Given the description of an element on the screen output the (x, y) to click on. 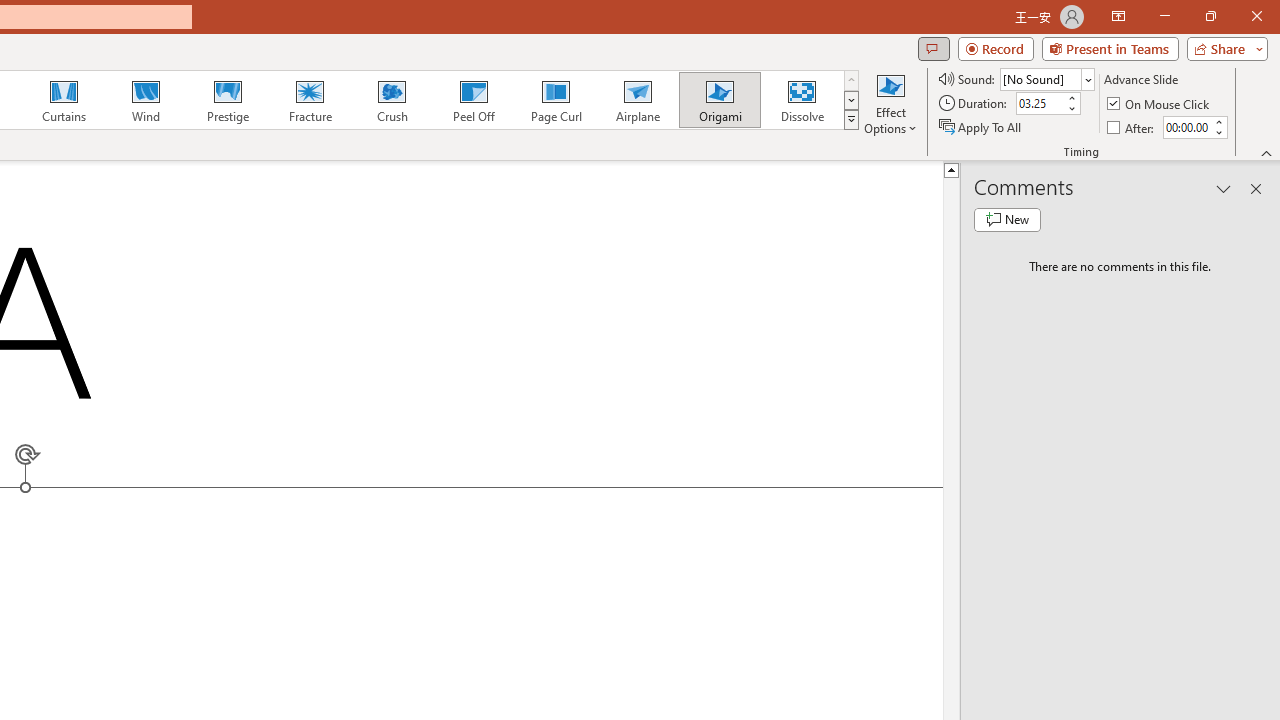
After (1131, 126)
New comment (1007, 219)
Prestige (227, 100)
Curtains (63, 100)
Peel Off (473, 100)
After (1186, 127)
